Given the description of an element on the screen output the (x, y) to click on. 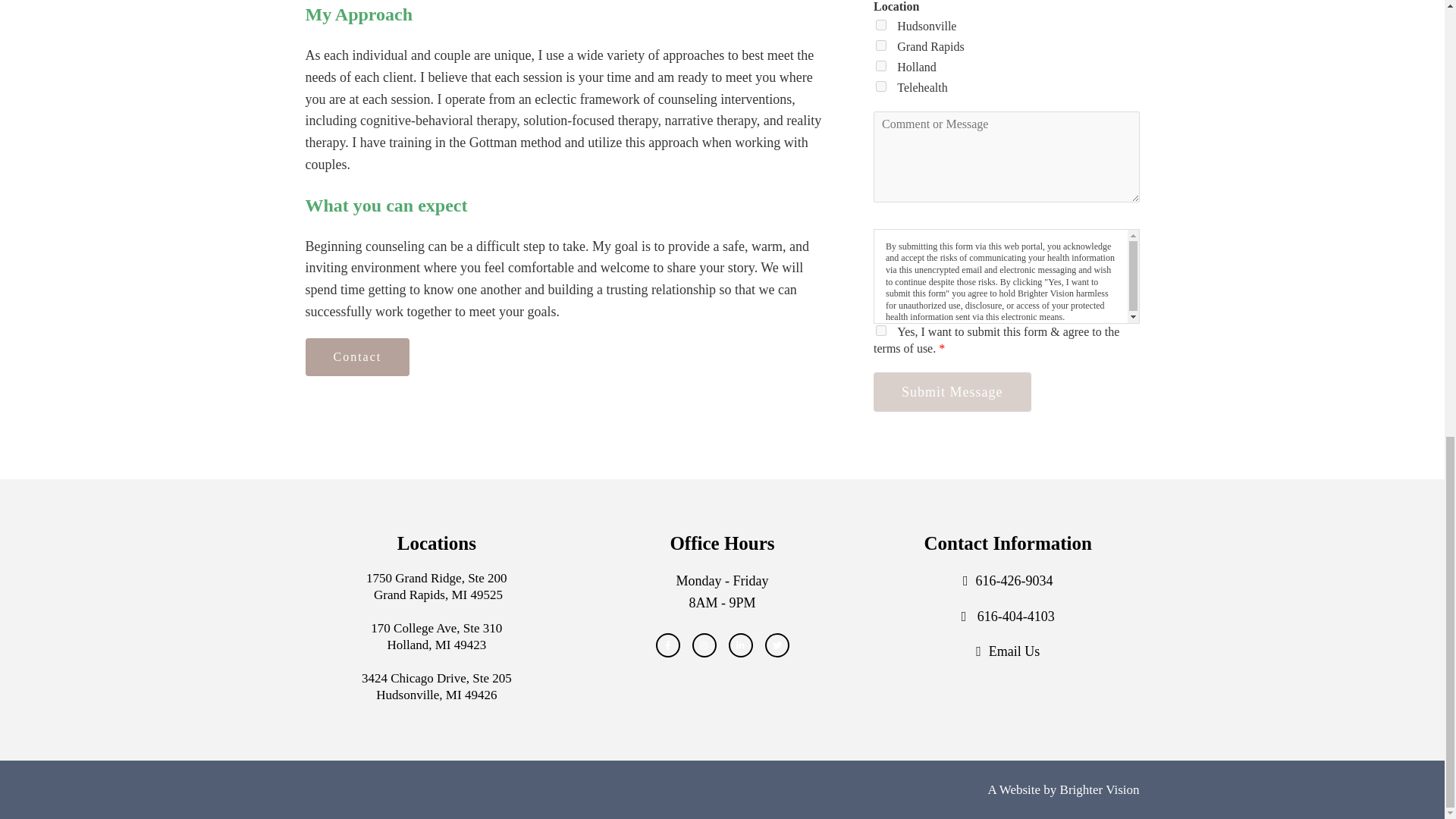
Grand Rapids (881, 45)
Telehealth (881, 86)
Hudsonville (881, 24)
Holland (881, 65)
